Given the description of an element on the screen output the (x, y) to click on. 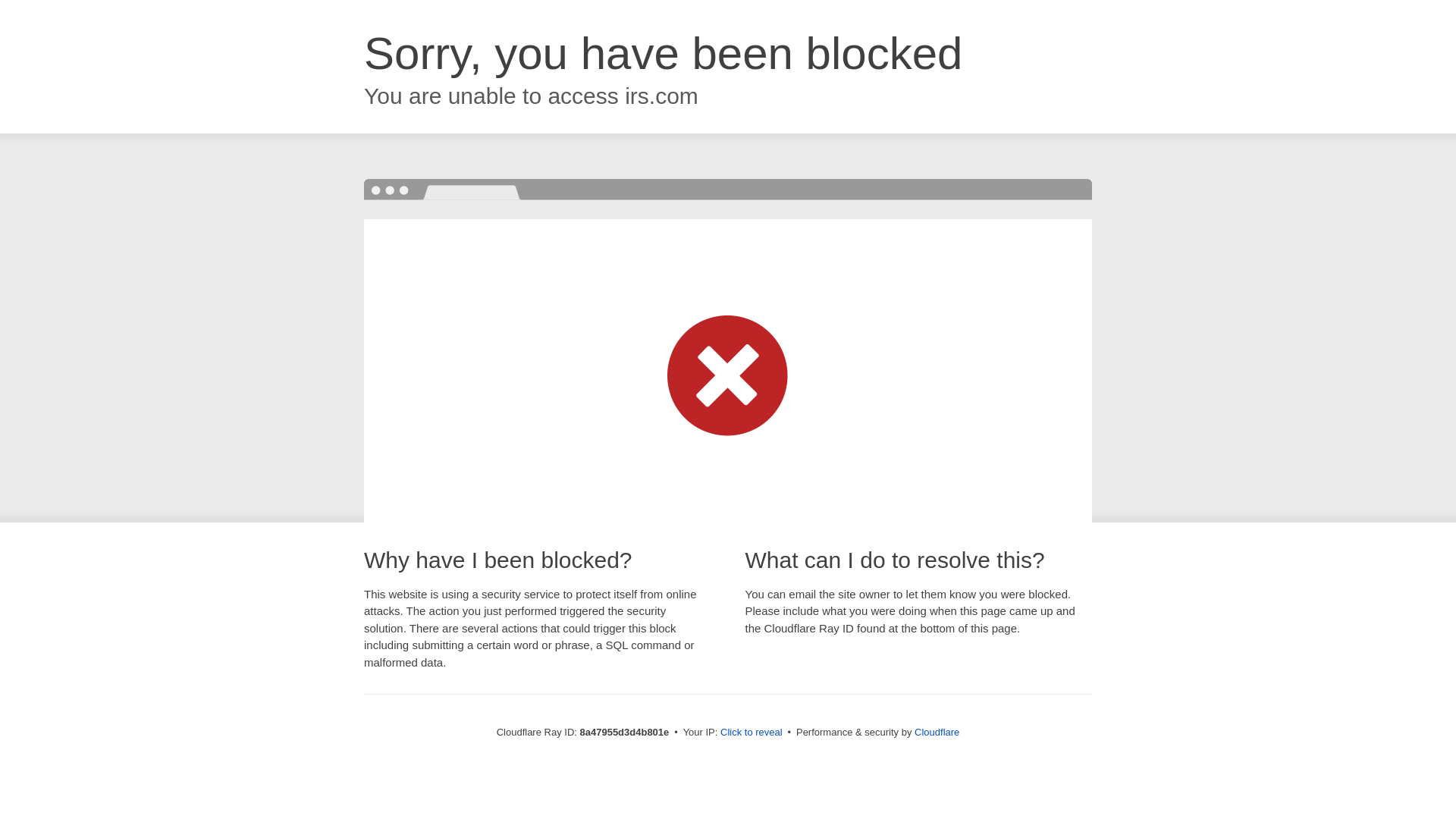
Click to reveal (751, 732)
Cloudflare (936, 731)
